Given the description of an element on the screen output the (x, y) to click on. 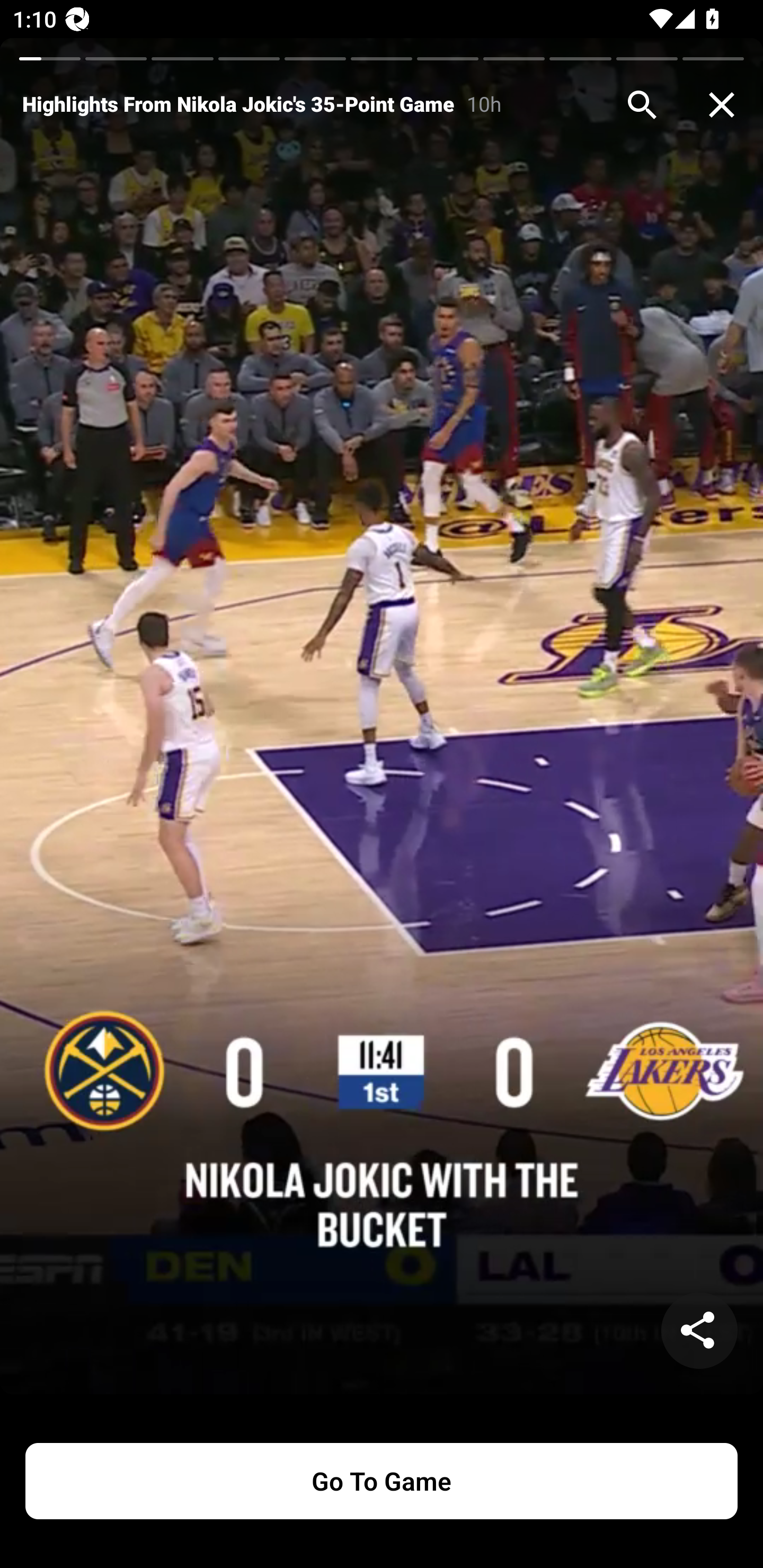
search (642, 104)
close (721, 104)
share (699, 1330)
Go To Game (381, 1480)
